Given the description of an element on the screen output the (x, y) to click on. 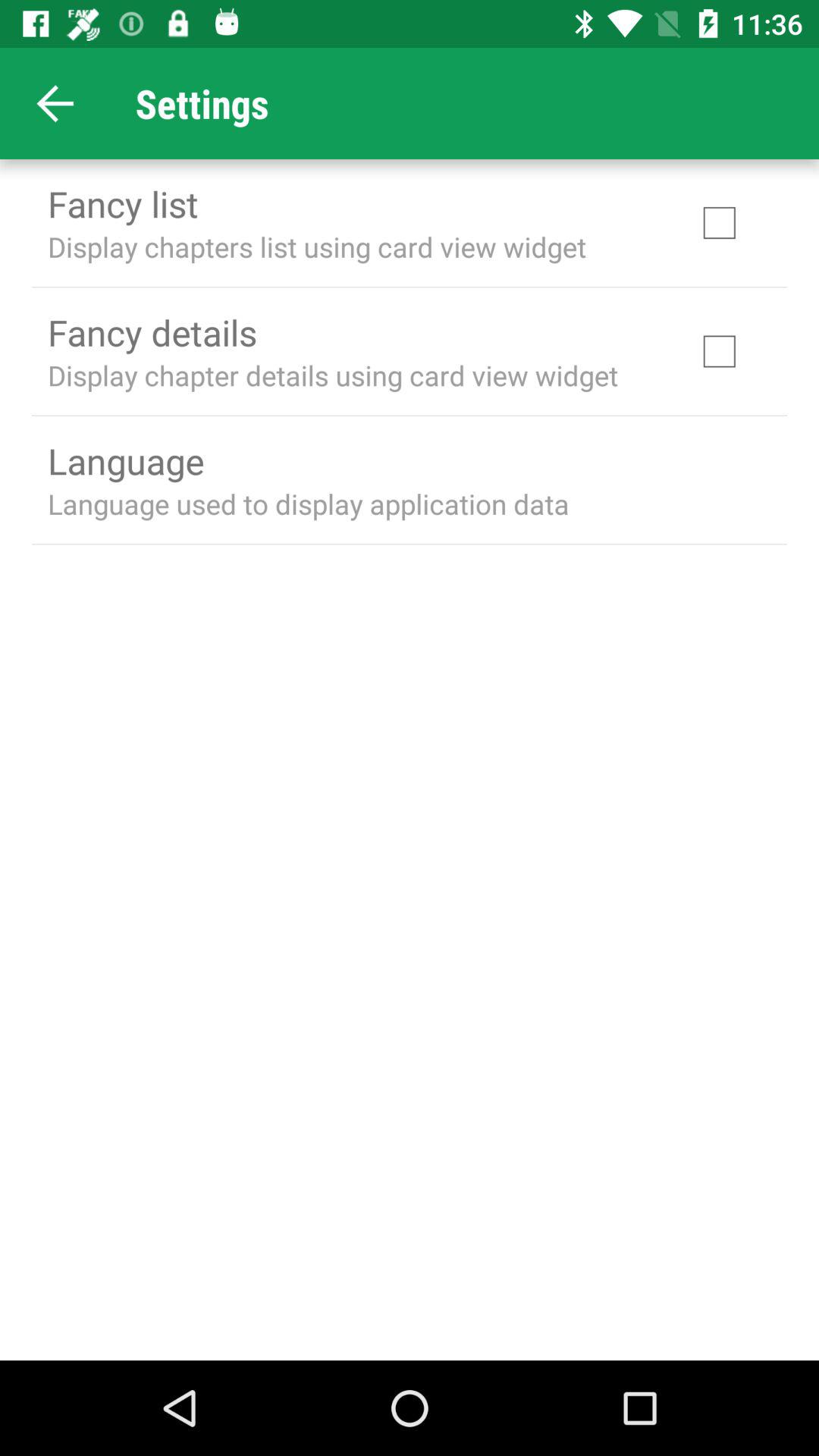
scroll until the fancy details item (152, 332)
